Given the description of an element on the screen output the (x, y) to click on. 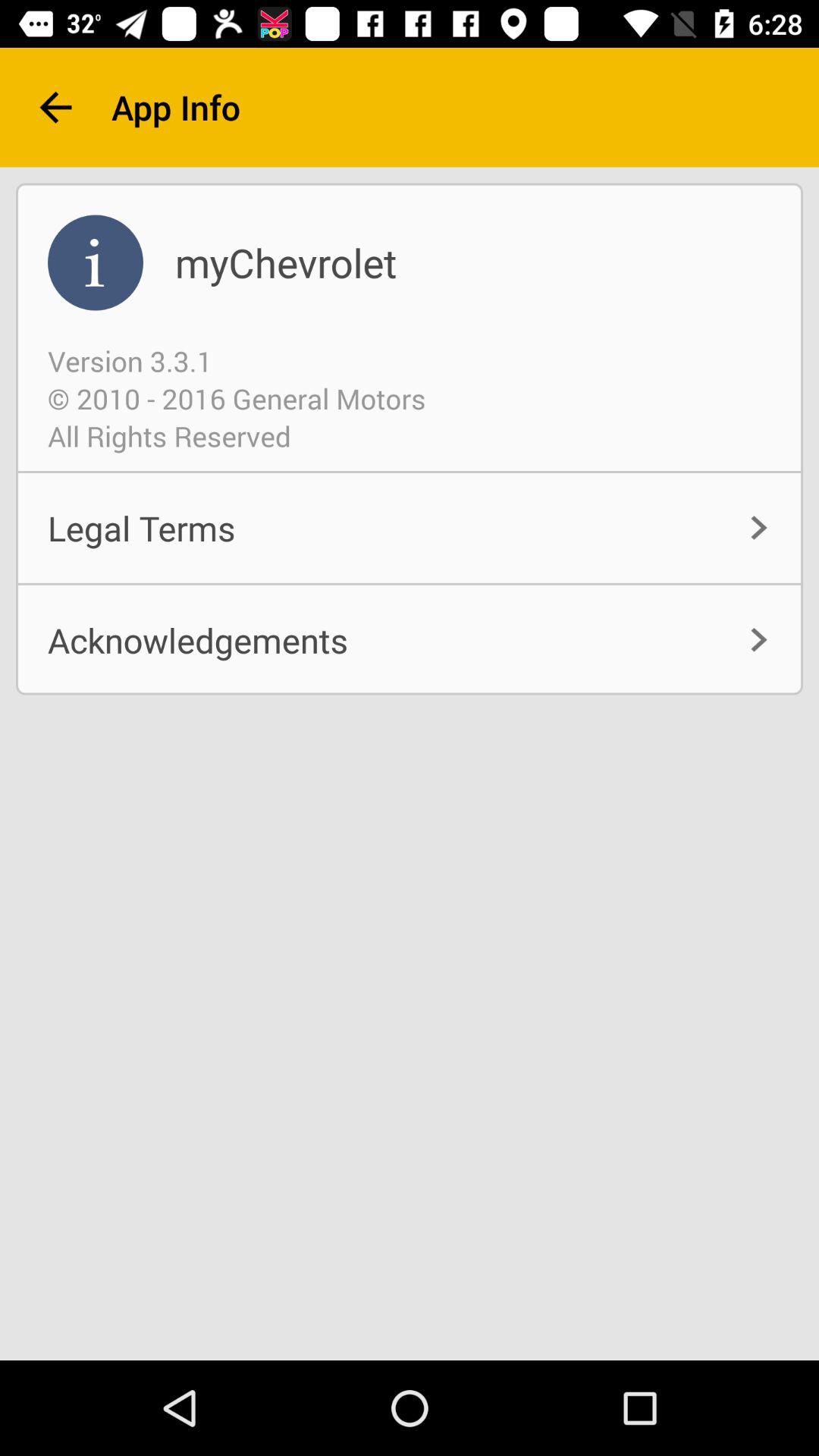
select the item next to app info item (55, 107)
